Given the description of an element on the screen output the (x, y) to click on. 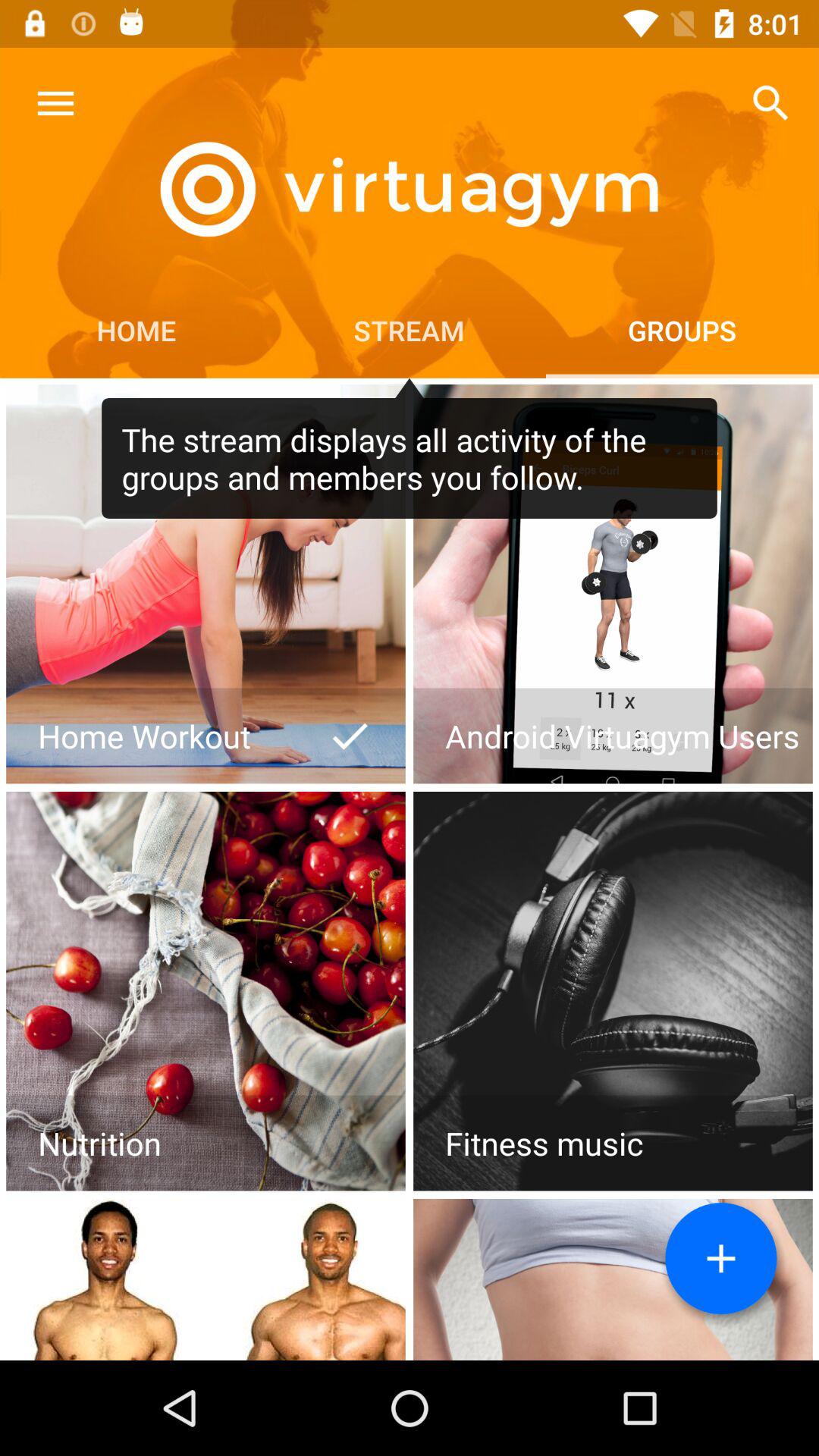
open page (205, 990)
